Given the description of an element on the screen output the (x, y) to click on. 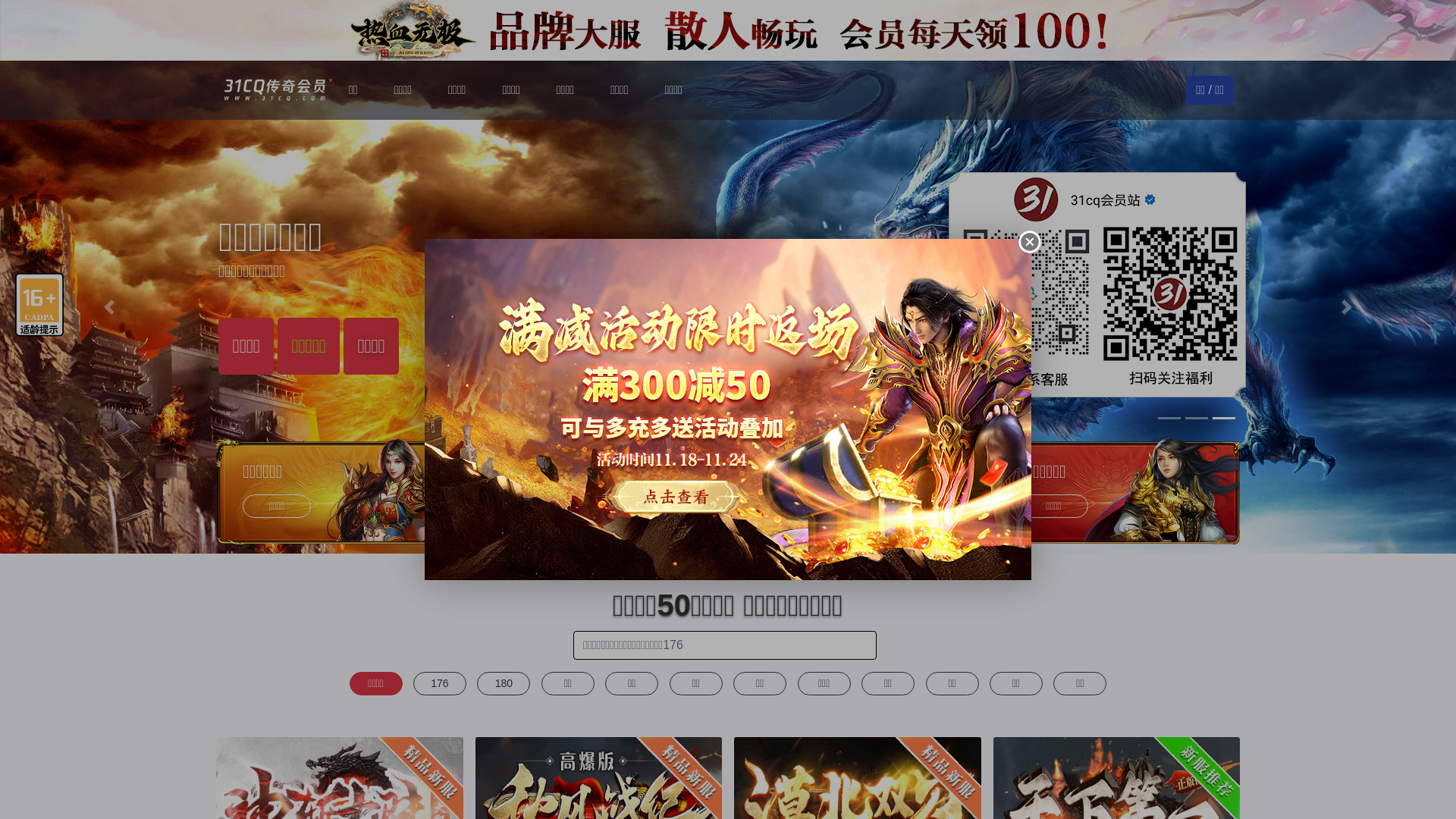
Previous Element type: text (109, 306)
180 Element type: text (503, 683)
176 Element type: text (439, 683)
